Given the description of an element on the screen output the (x, y) to click on. 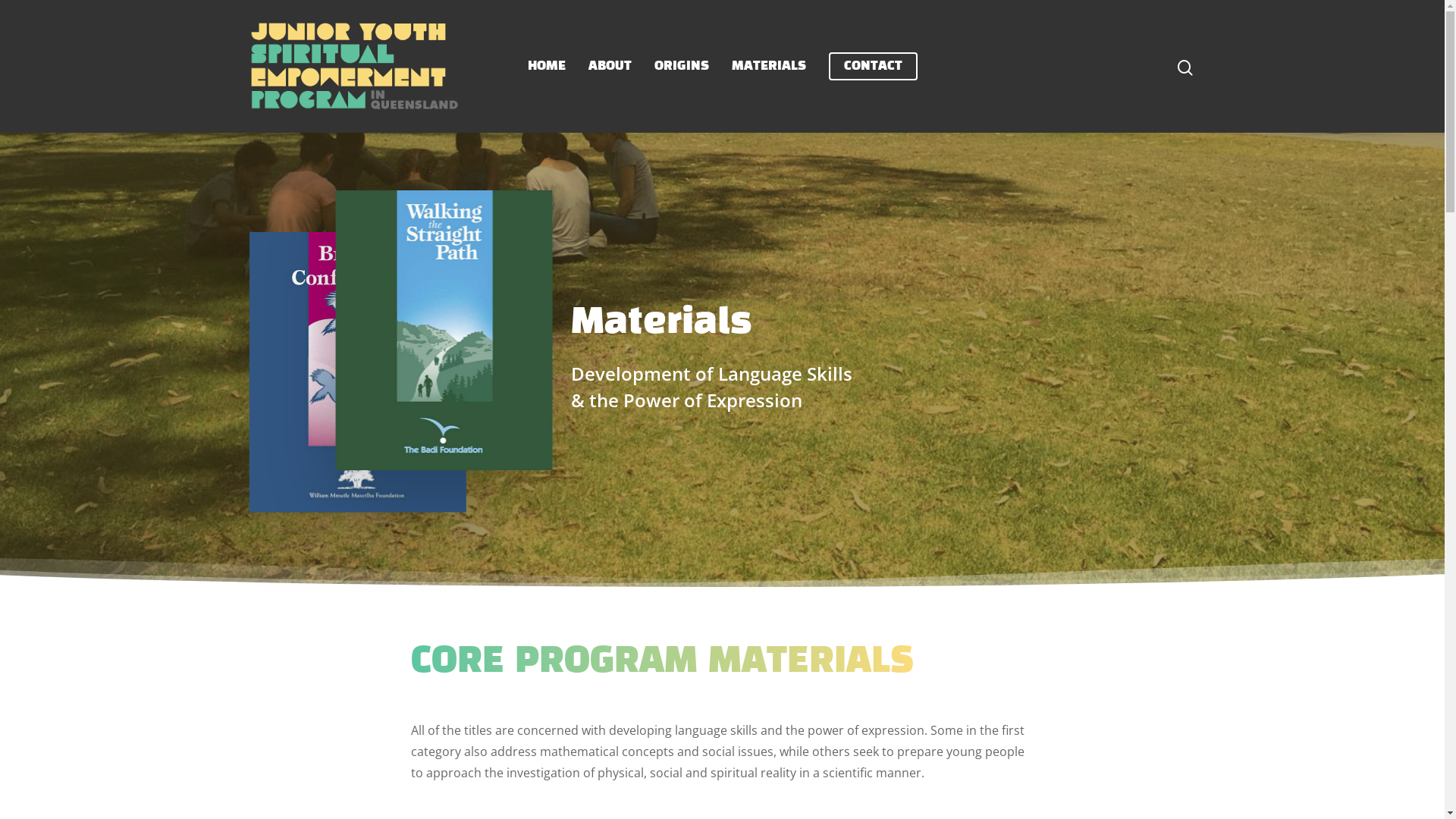
HOME Element type: text (546, 65)
MATERIALS Element type: text (768, 65)
CONTACT Element type: text (872, 65)
ABOUT Element type: text (609, 65)
ORIGINS Element type: text (680, 65)
